Given the description of an element on the screen output the (x, y) to click on. 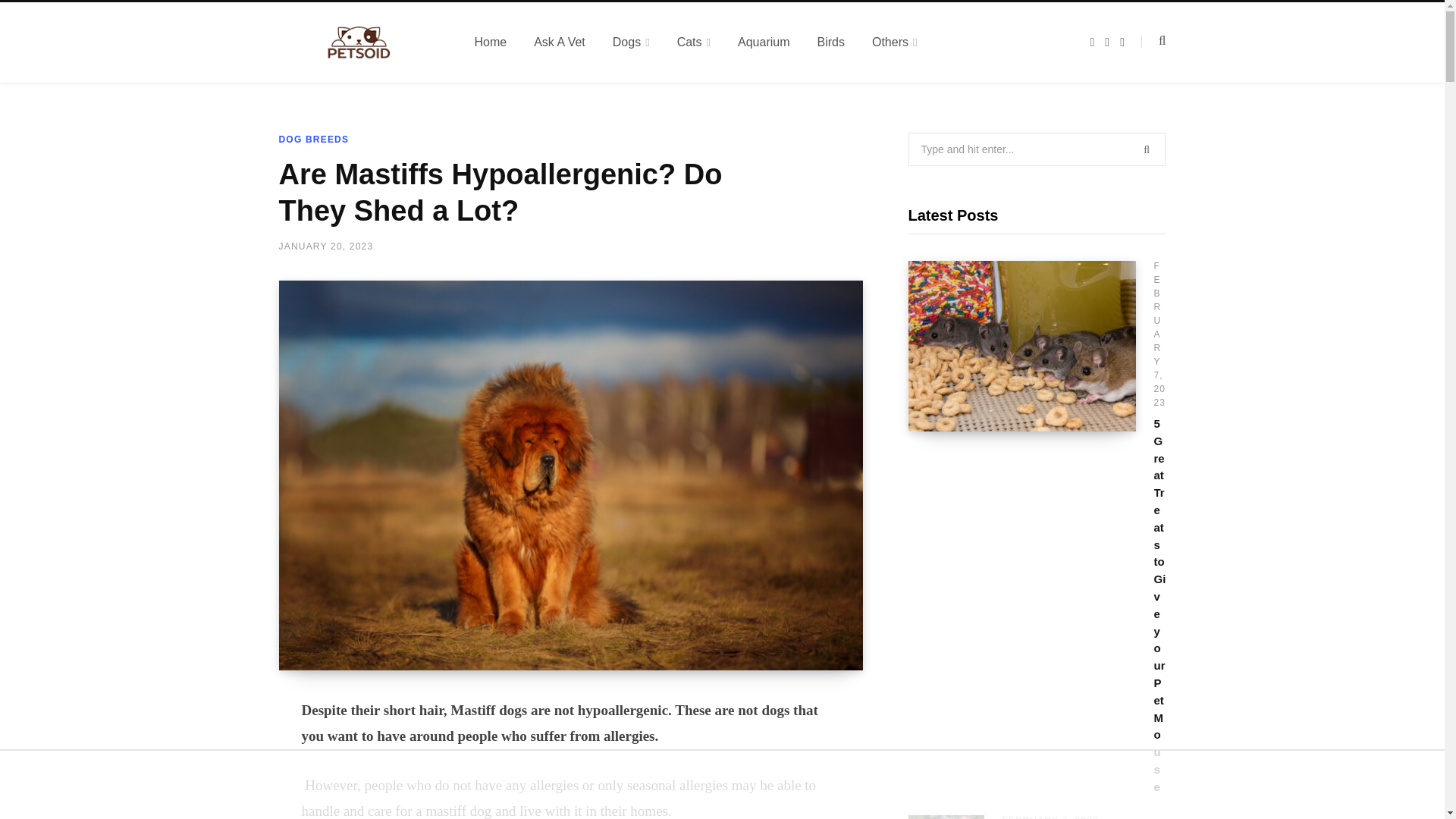
Others (895, 41)
Facebook (1092, 42)
Cats (693, 41)
Dogs (630, 41)
Pinterest (1121, 42)
Birds (831, 41)
Petsoid (358, 42)
JANUARY 20, 2023 (326, 245)
Home (491, 41)
Aquarium (763, 41)
Search (1153, 41)
DOG BREEDS (314, 139)
Instagram (1107, 42)
Ask A Vet (558, 41)
